Given the description of an element on the screen output the (x, y) to click on. 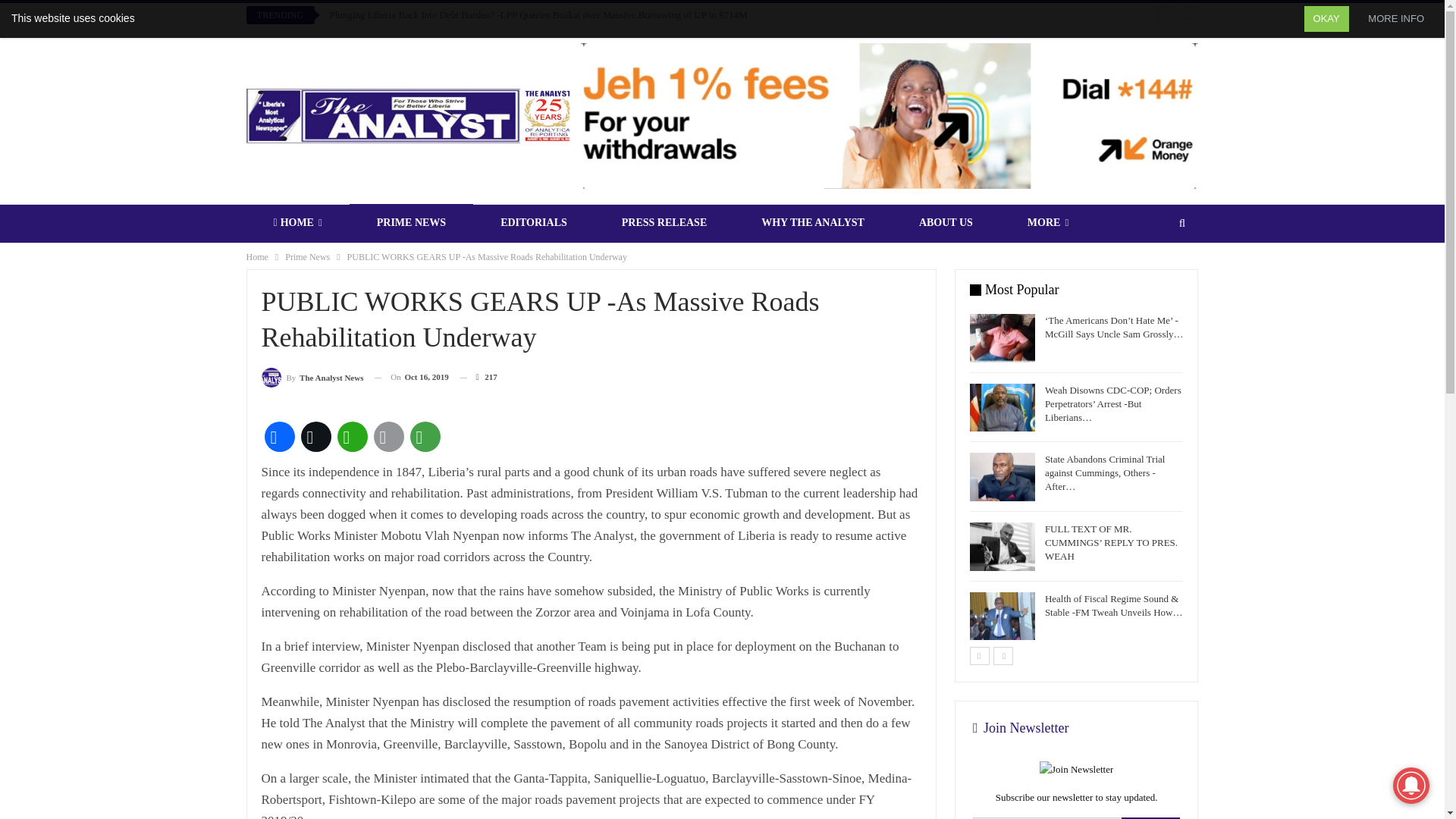
Browse Author Articles (311, 376)
Email This (387, 436)
EDITORIALS (533, 222)
Facebook (278, 436)
PRESS RELEASE (663, 222)
By The Analyst News (311, 376)
HOME (297, 222)
WhatsApp (351, 436)
WHY THE ANALYST (812, 222)
MORE (1048, 222)
